Given the description of an element on the screen output the (x, y) to click on. 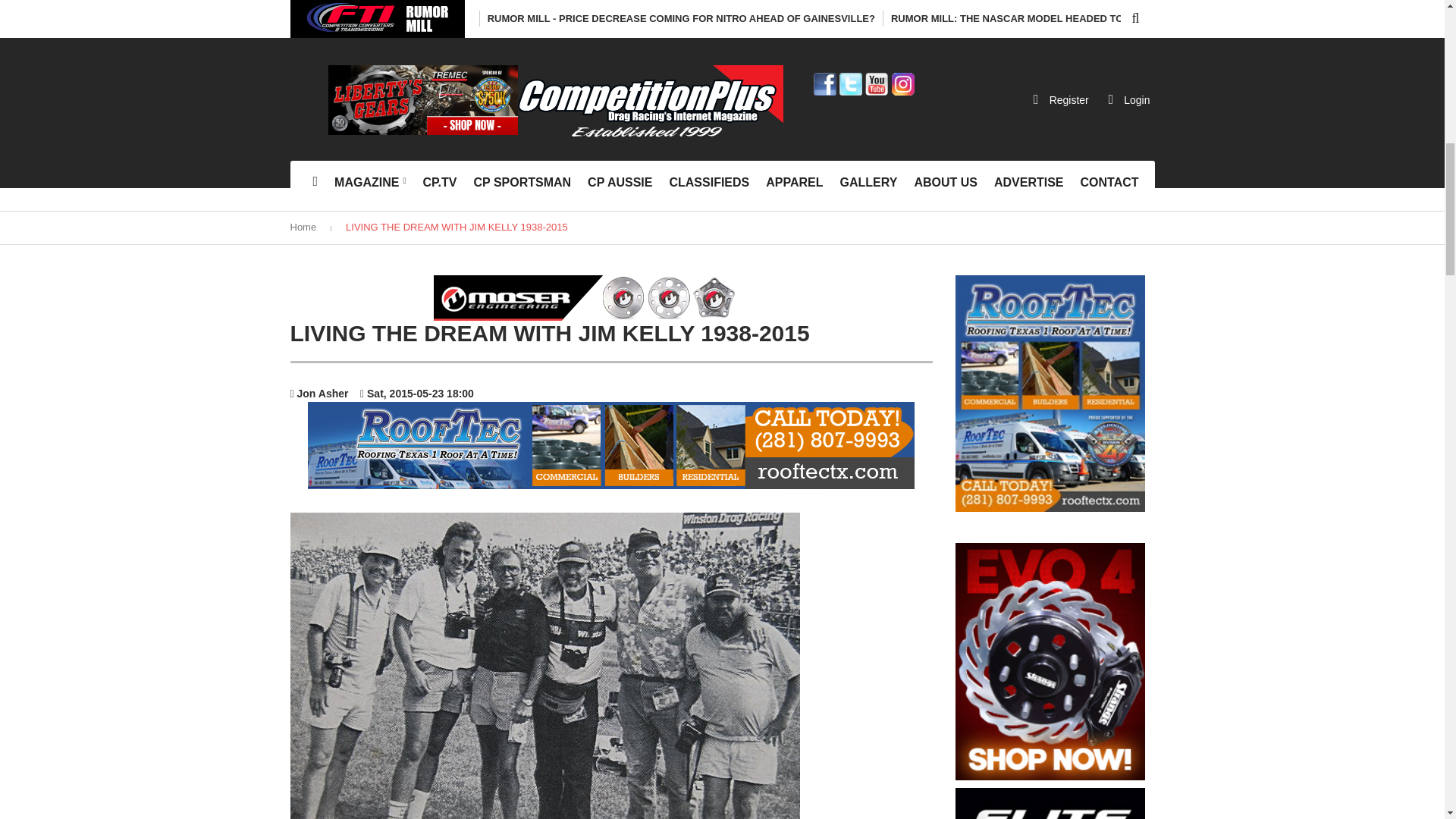
CONTACT (1110, 182)
CP AUSSIE (619, 182)
Competition Plus (649, 102)
Register (1061, 98)
CP.TV (439, 182)
Home (302, 226)
ADVERTISE (1029, 182)
LIVING THE DREAM WITH JIM KELLY 1938-2015 (456, 226)
Twitter (850, 82)
GALLERY (868, 182)
YouTube (876, 82)
CP SPORTSMAN (521, 182)
ABOUT US (945, 182)
